Given the description of an element on the screen output the (x, y) to click on. 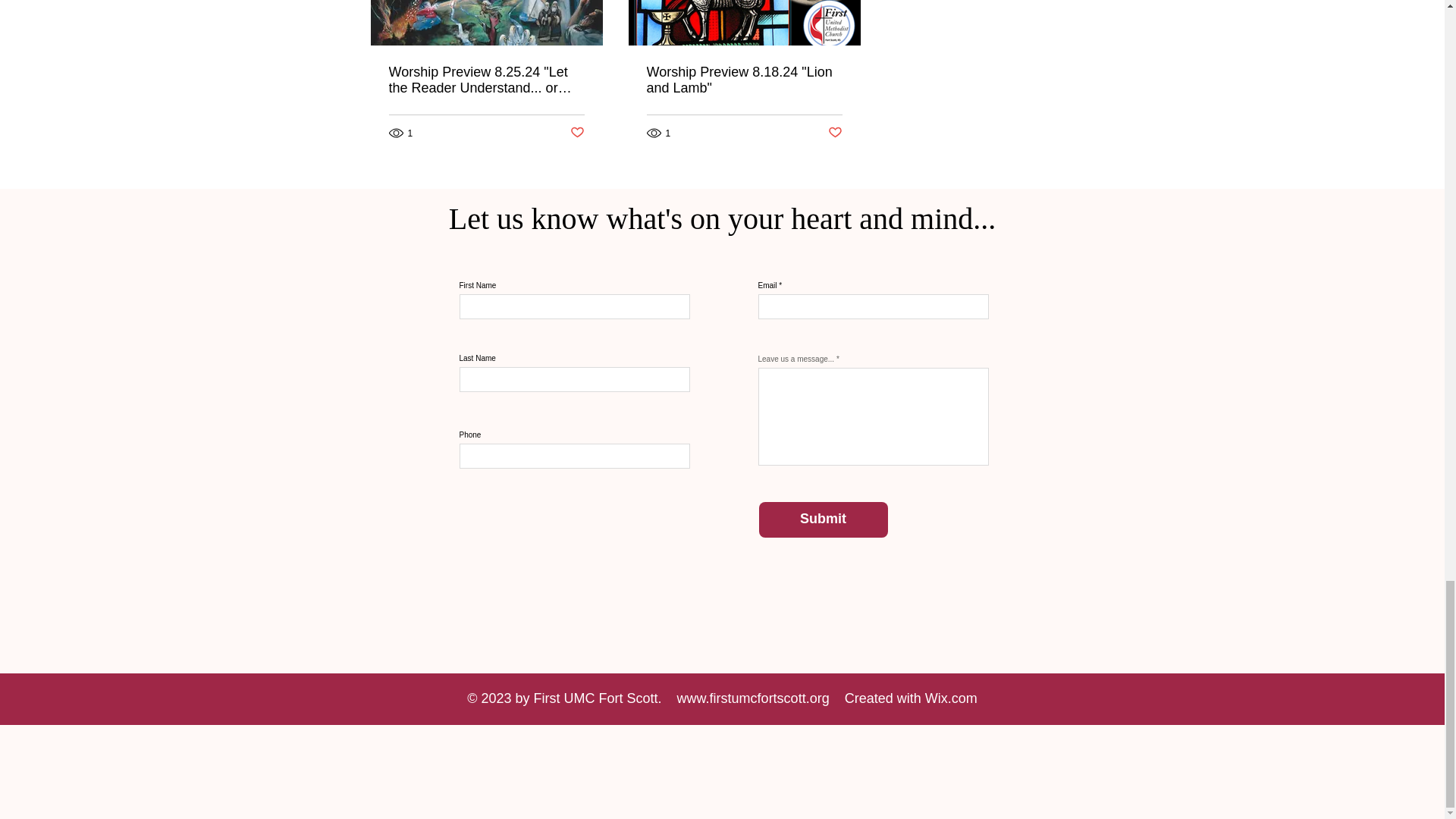
Post not marked as liked (835, 132)
Worship Preview 8.18.24 "Lion and Lamb" (743, 80)
Post not marked as liked (577, 132)
